Given the description of an element on the screen output the (x, y) to click on. 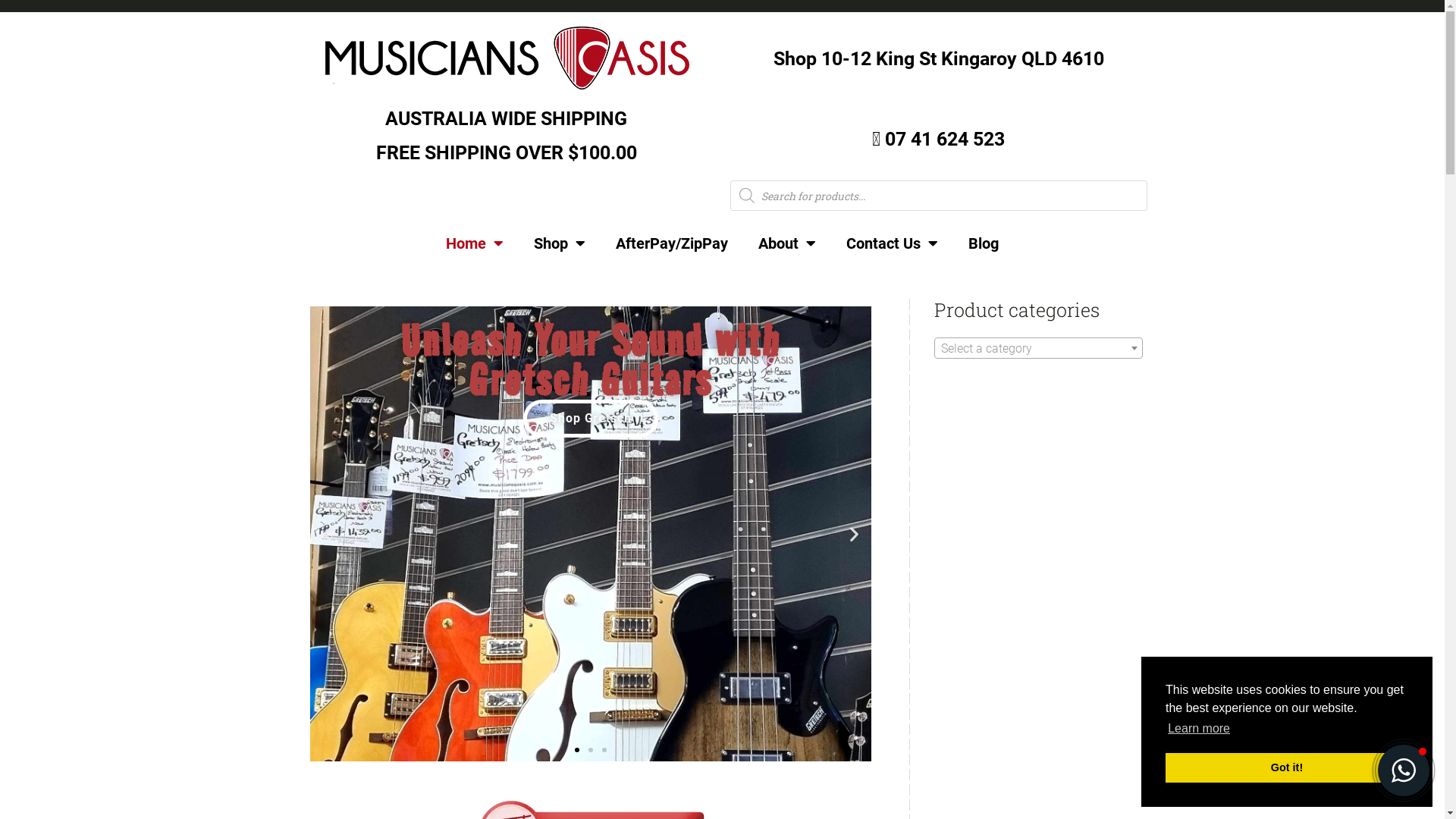
Shop Gretsch Element type: text (590, 418)
Skip to main content Element type: text (0, 0)
Contact Us Element type: text (892, 242)
Blog Element type: text (983, 242)
Shop Element type: text (559, 242)
About Element type: text (787, 242)
Got it! Element type: text (1286, 767)
Home Element type: text (474, 242)
AfterPay/ZipPay Element type: text (671, 242)
Learn more Element type: text (1198, 728)
